Given the description of an element on the screen output the (x, y) to click on. 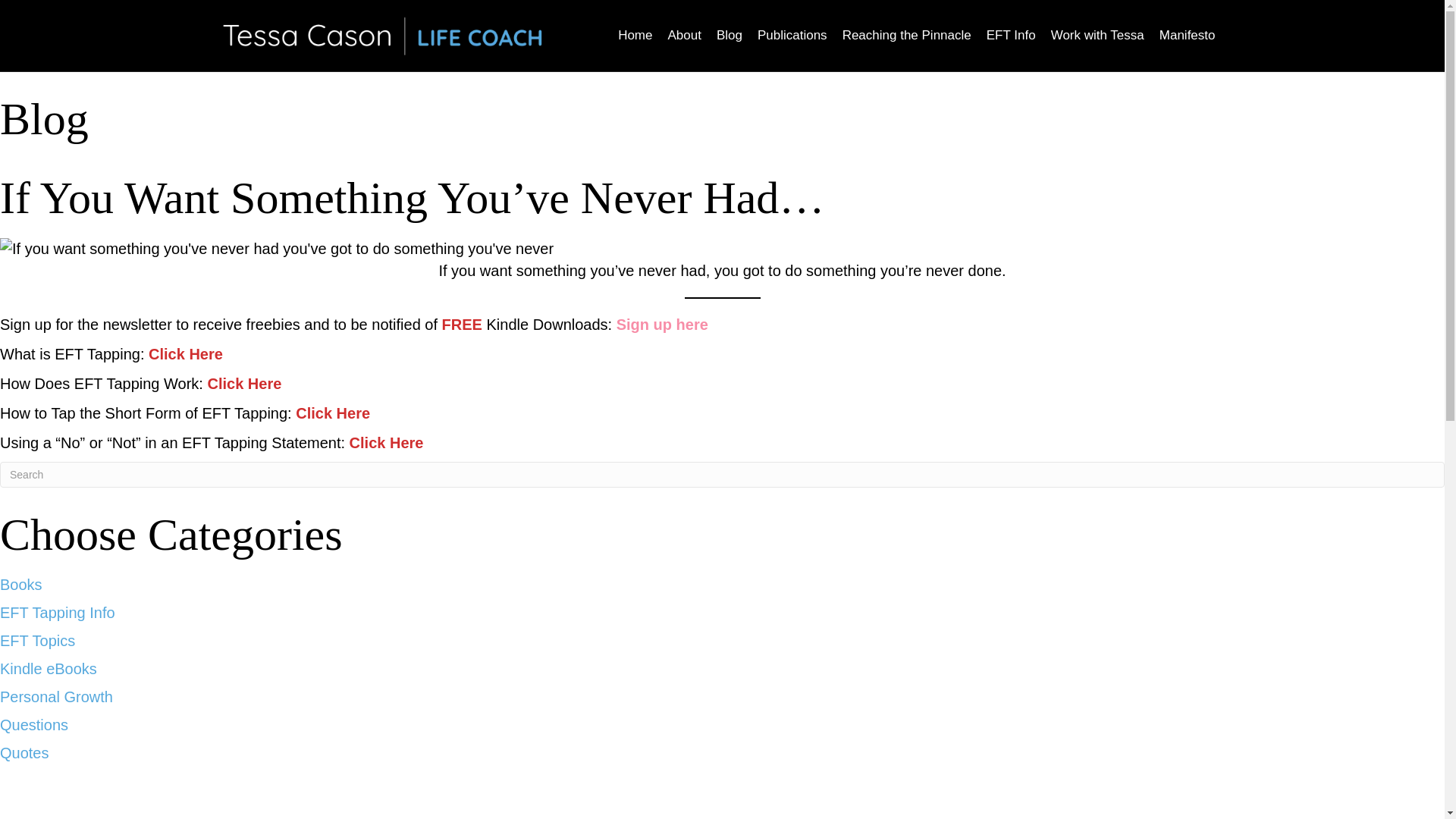
Books (21, 584)
Manifesto (1187, 35)
Click Here (185, 353)
Personal Growth (56, 696)
Click Here (332, 412)
Sign up here (661, 324)
Blog (729, 35)
Reaching the Pinnacle (906, 35)
Home (634, 35)
EFT Topics (37, 640)
EFT Info (1010, 35)
Kindle eBooks (48, 668)
Click Here (386, 442)
Quotes (24, 752)
